Given the description of an element on the screen output the (x, y) to click on. 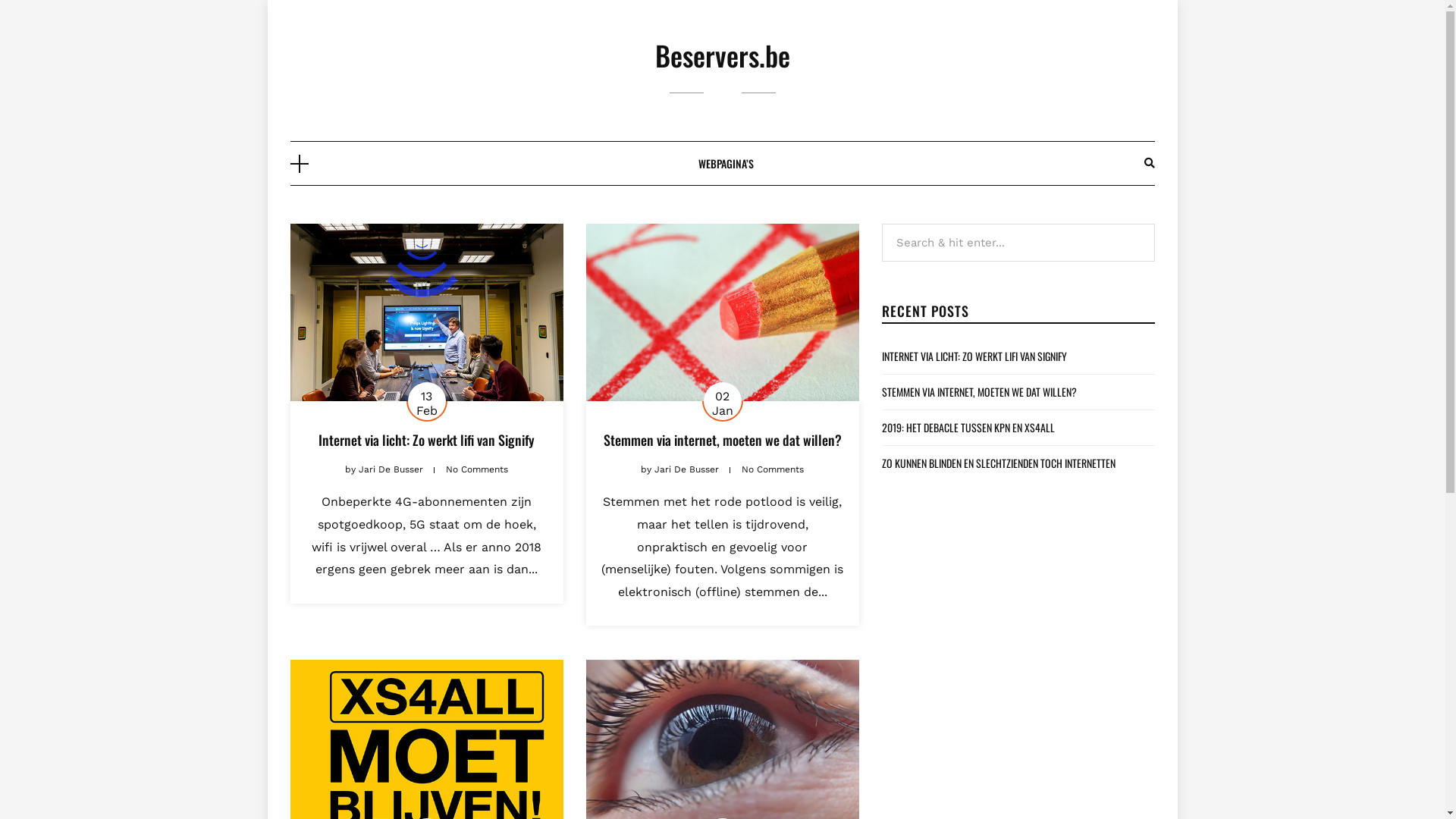
Beservers.be Element type: text (722, 54)
INTERNET VIA LICHT: ZO WERKT LIFI VAN SIGNIFY Element type: text (973, 356)
Stemmen via internet, moeten we dat willen? Element type: text (722, 439)
STEMMEN VIA INTERNET, MOETEN WE DAT WILLEN? Element type: text (978, 391)
2019: HET DEBACLE TUSSEN KPN EN XS4ALL Element type: text (967, 427)
ZO KUNNEN BLINDEN EN SLECHTZIENDEN TOCH INTERNETTEN Element type: text (997, 462)
Internet via licht: Zo werkt lifi van Signify Element type: text (426, 439)
